Given the description of an element on the screen output the (x, y) to click on. 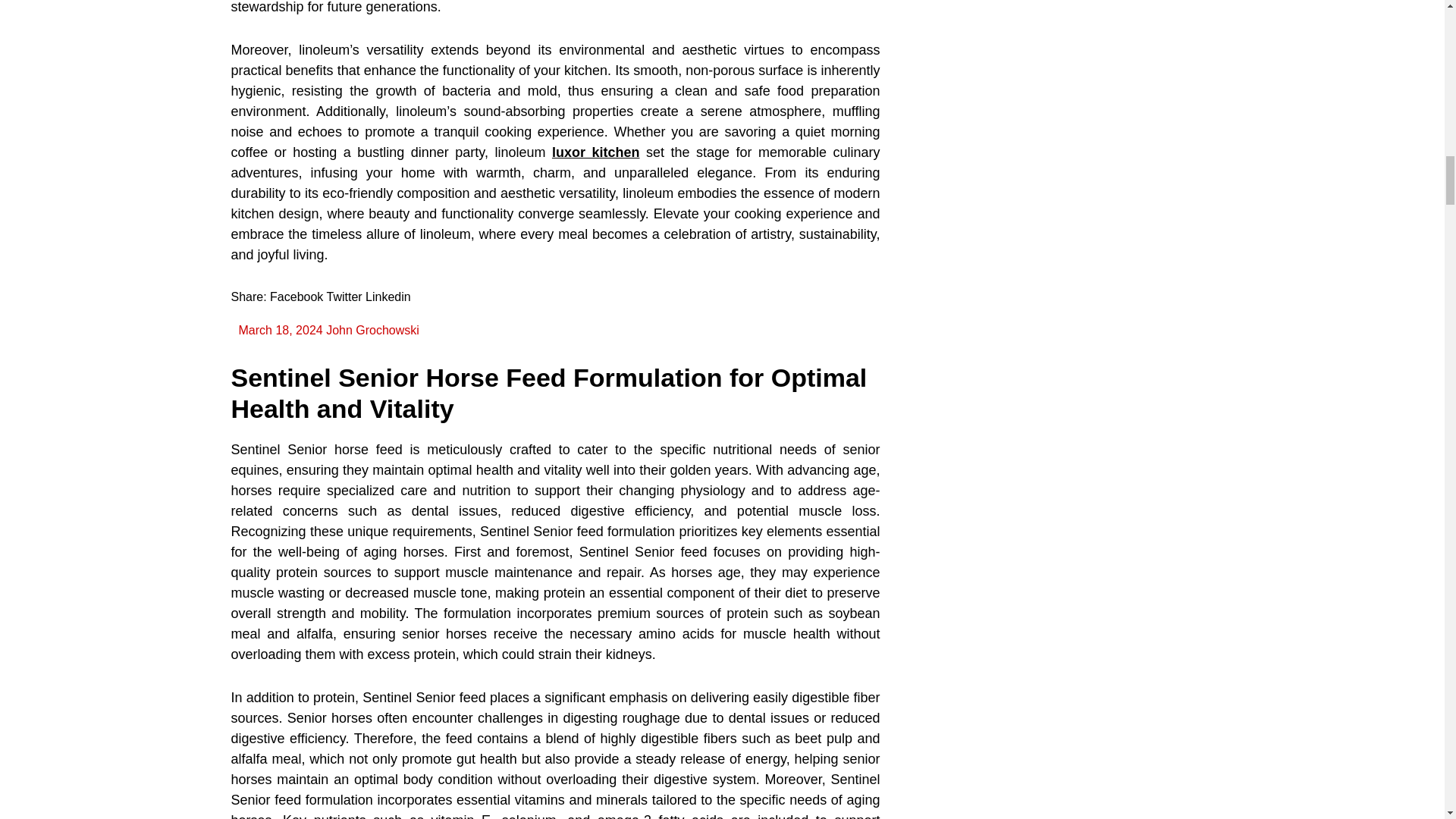
Twitter (344, 296)
Facebook (296, 296)
Linkedin (387, 296)
luxor kitchen (595, 151)
